Given the description of an element on the screen output the (x, y) to click on. 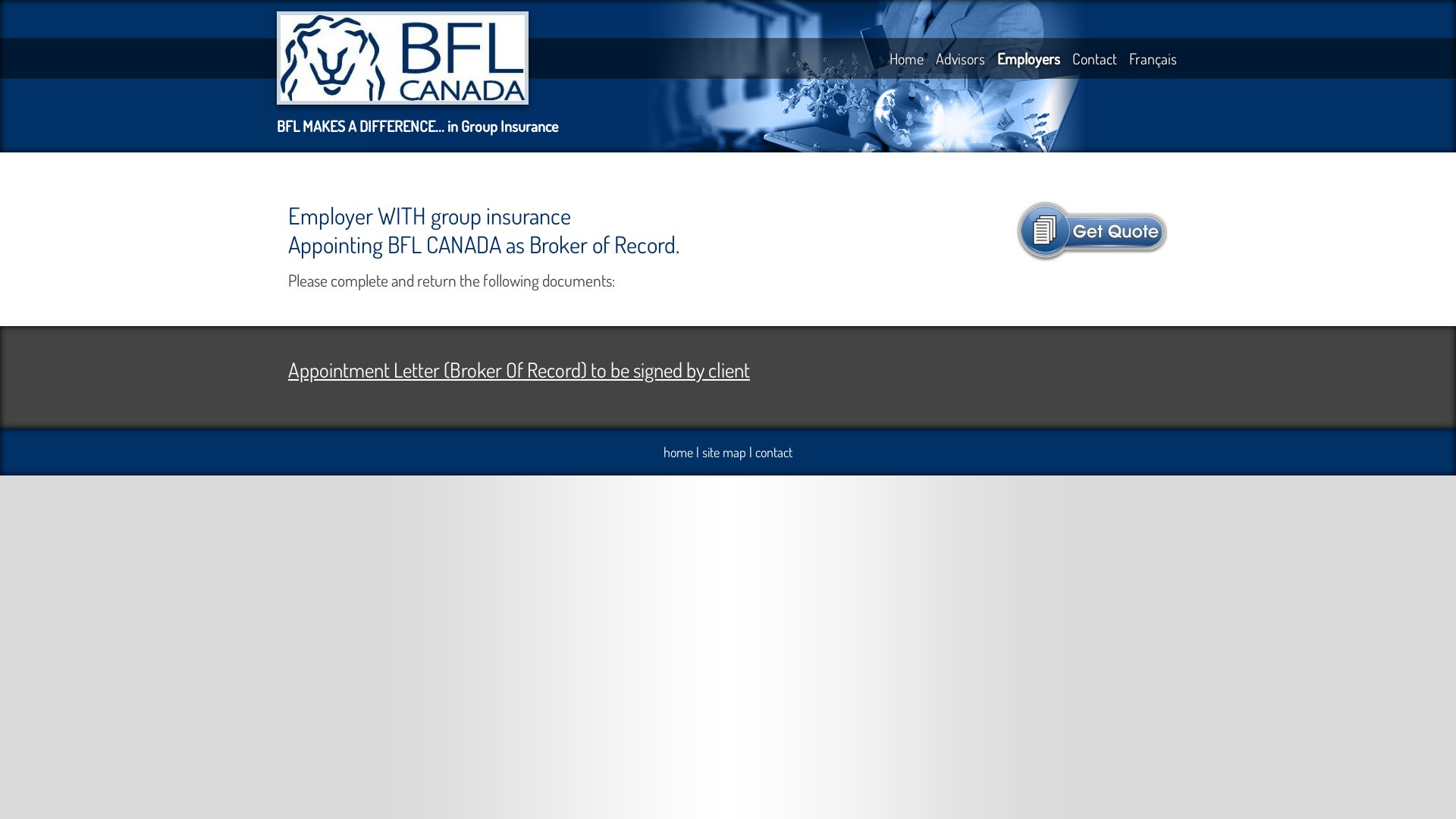
Contact Element type: text (1094, 57)
site map Element type: text (724, 451)
Home Element type: text (906, 57)
home Element type: text (678, 451)
Appointment Letter (Broker Of Record) to be signed by client Element type: text (518, 369)
contact Element type: text (773, 451)
Advisors Element type: text (960, 57)
Employers Element type: text (1028, 57)
